Given the description of an element on the screen output the (x, y) to click on. 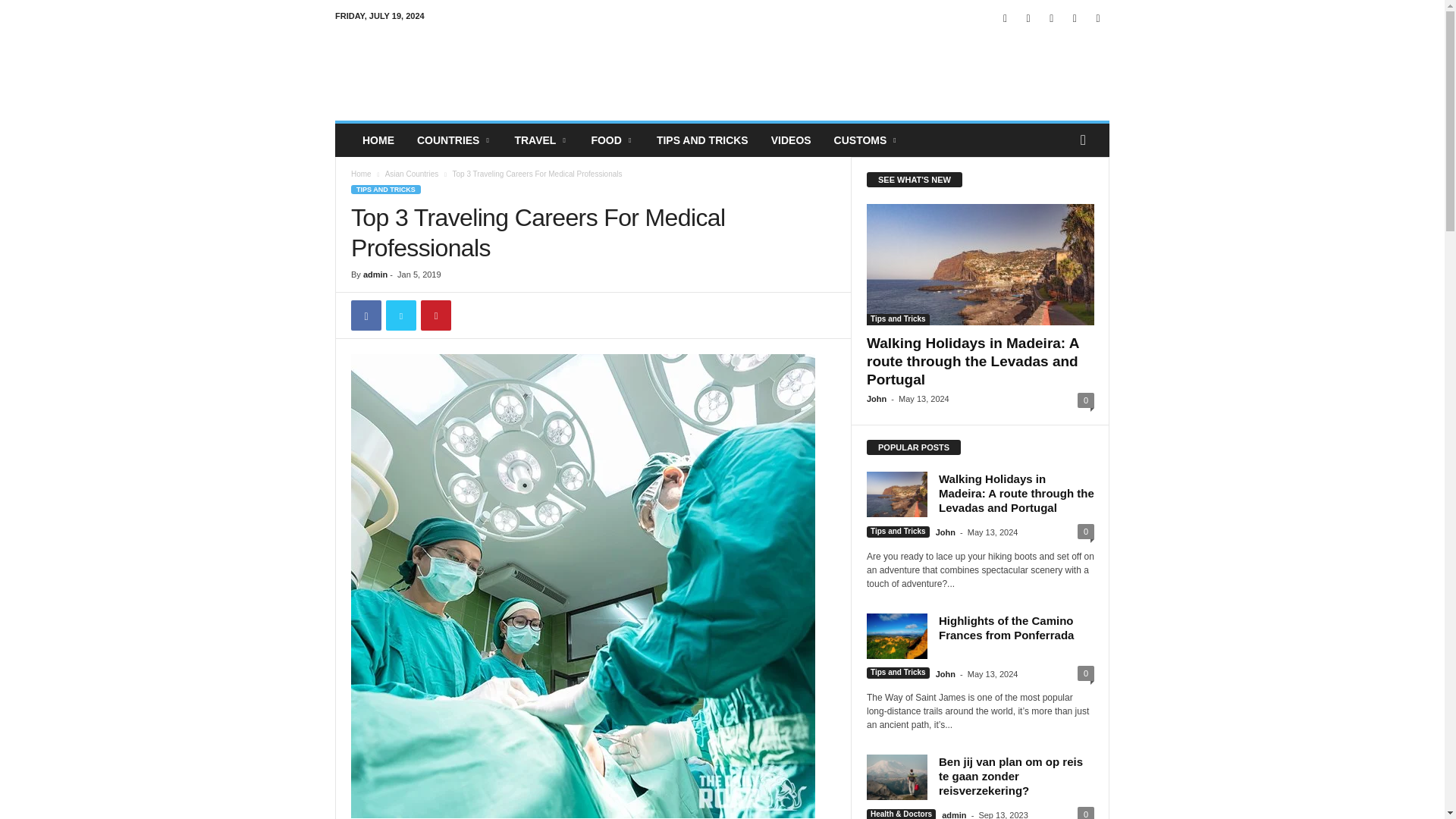
Pinterest (1074, 18)
Facebook (1027, 18)
The Daily Roar (437, 70)
Blogger (1004, 18)
Twitter (1097, 18)
Instagram (1051, 18)
